Given the description of an element on the screen output the (x, y) to click on. 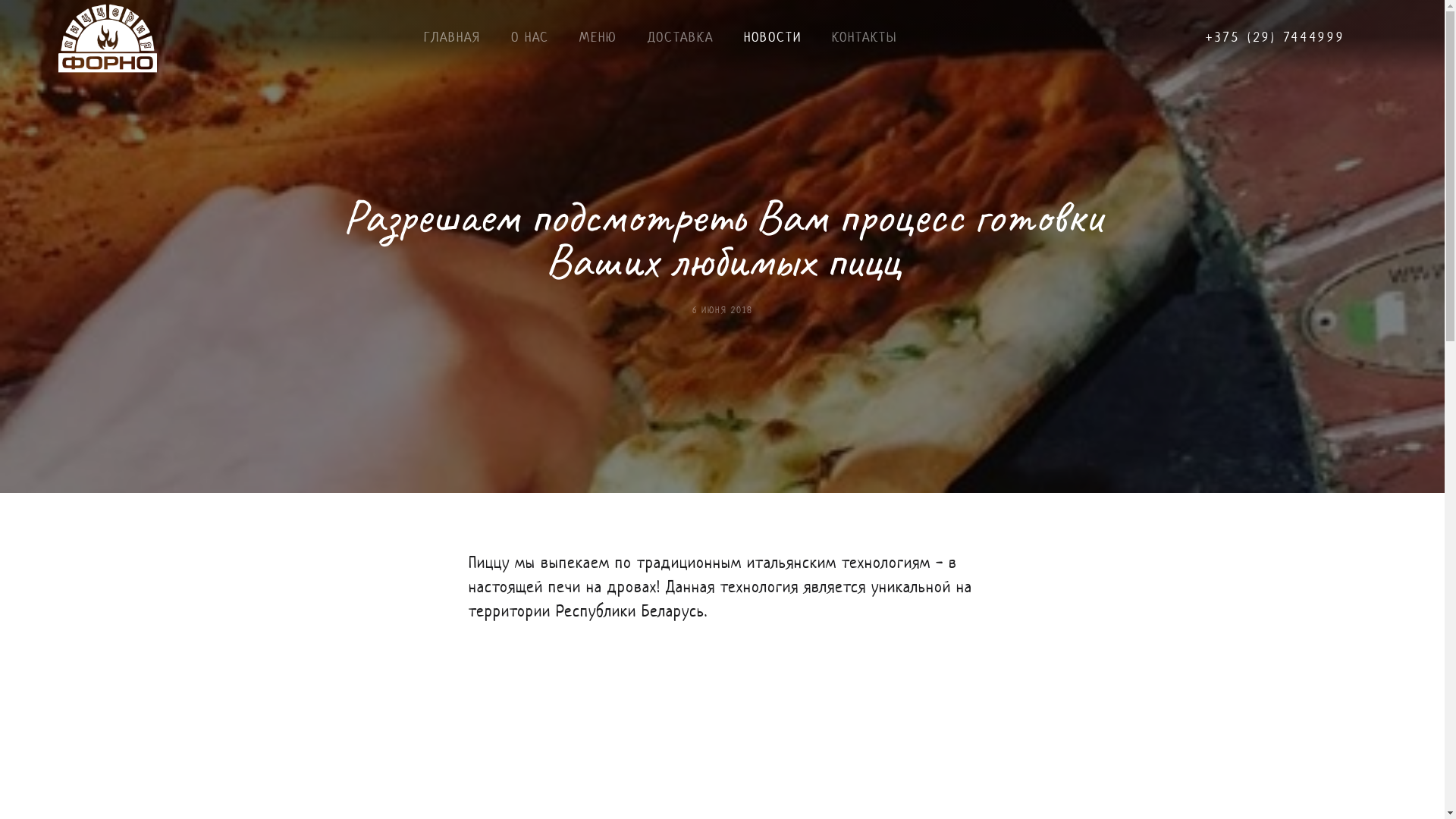
+375 (29) 7444999 Element type: text (1275, 36)
